Given the description of an element on the screen output the (x, y) to click on. 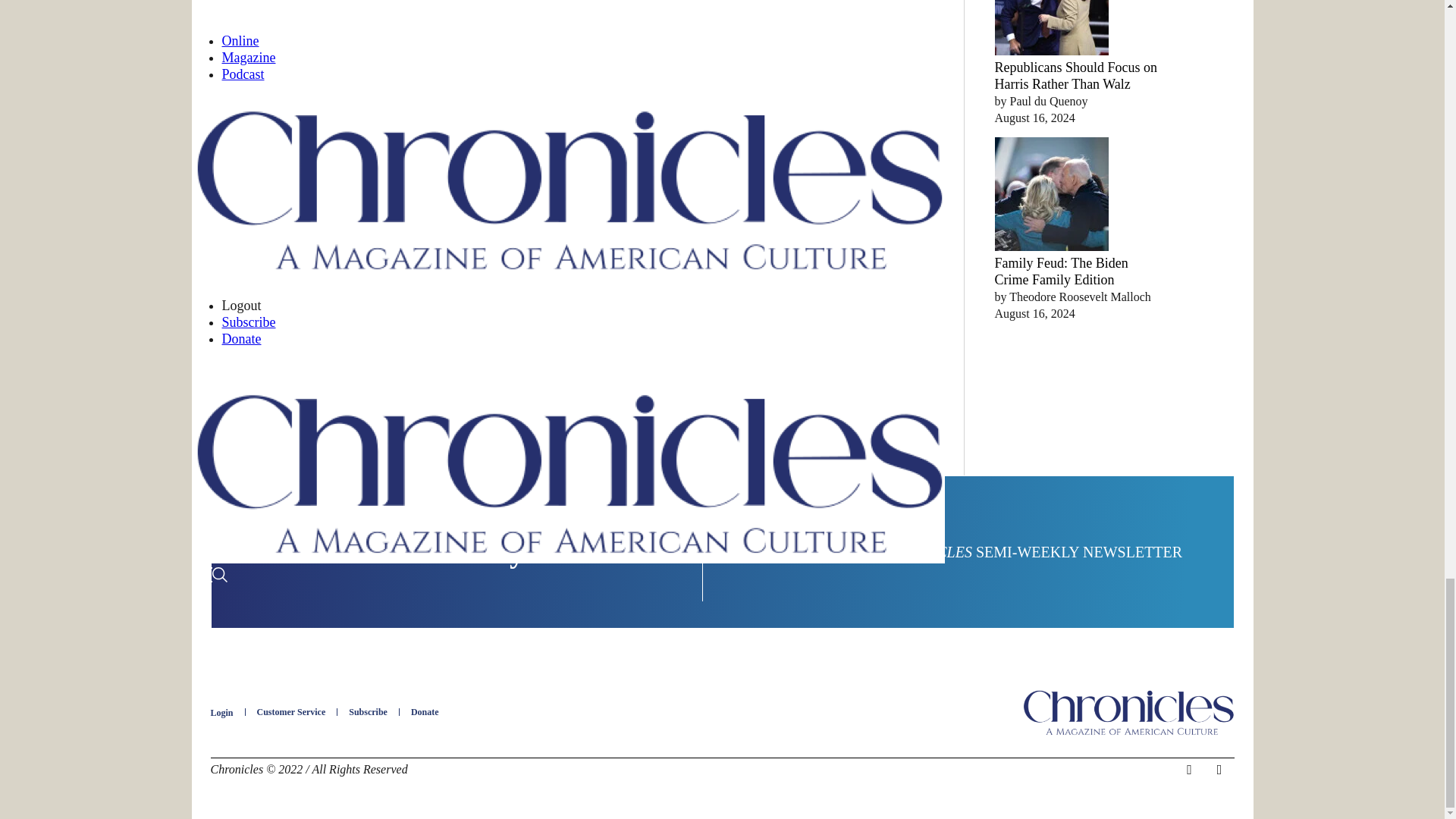
Family Feud: The Biden Crime Family Edition (1061, 271)
Facebook (1189, 769)
Subscribe (368, 711)
Twitter (1219, 769)
Login (221, 712)
Republicans Should Focus on Harris Rather Than Walz (1075, 75)
Customer Service (291, 711)
Donate (424, 711)
